Given the description of an element on the screen output the (x, y) to click on. 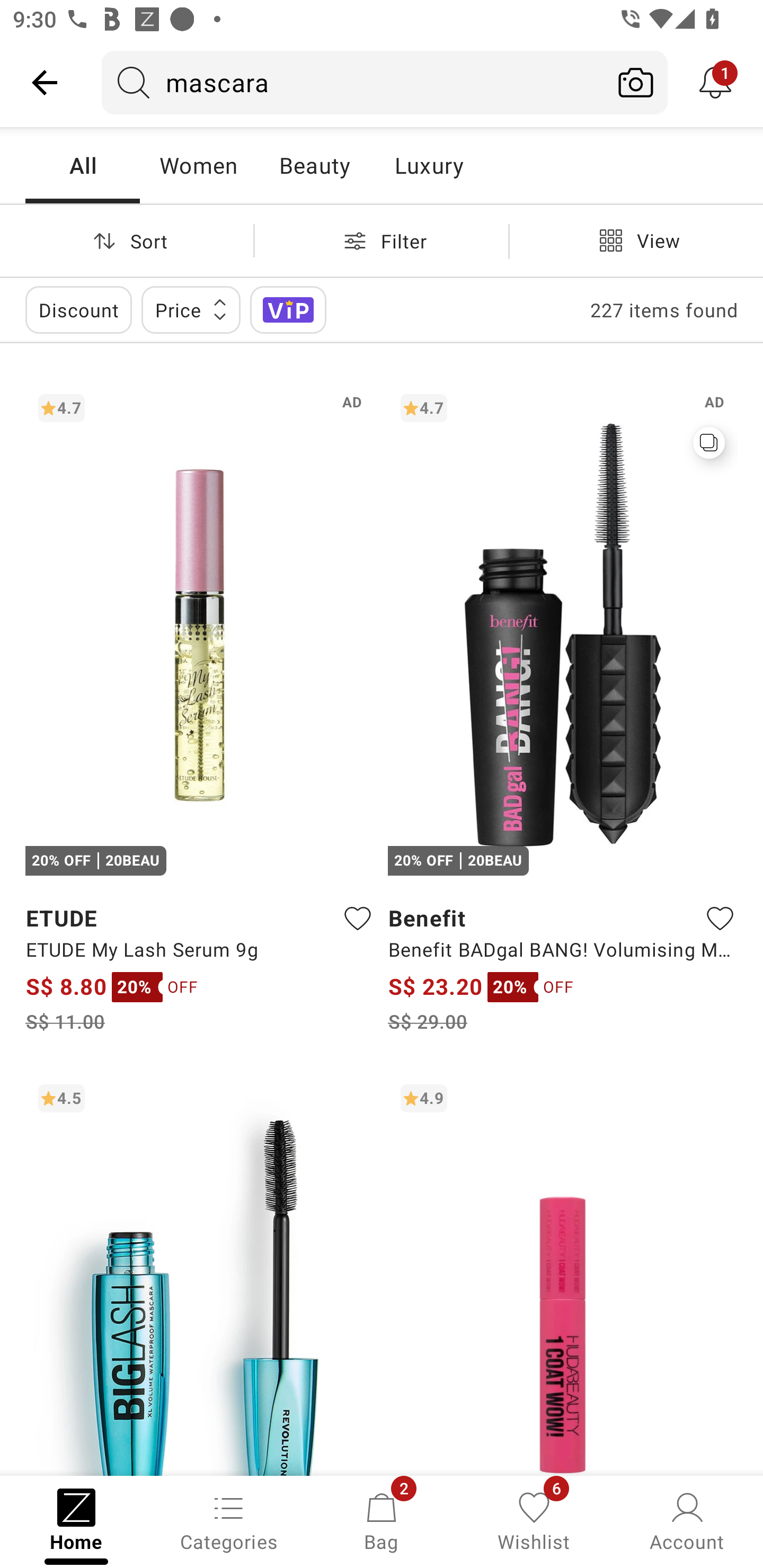
Navigate up (44, 82)
mascara (352, 82)
Women (198, 165)
Beauty (314, 165)
Luxury (428, 165)
Sort (126, 240)
Filter (381, 240)
View (636, 240)
Discount (78, 309)
Price (190, 309)
4.5 (200, 1272)
4.9 (562, 1272)
Categories (228, 1519)
Bag, 2 new notifications Bag (381, 1519)
Wishlist, 6 new notifications Wishlist (533, 1519)
Account (686, 1519)
